Given the description of an element on the screen output the (x, y) to click on. 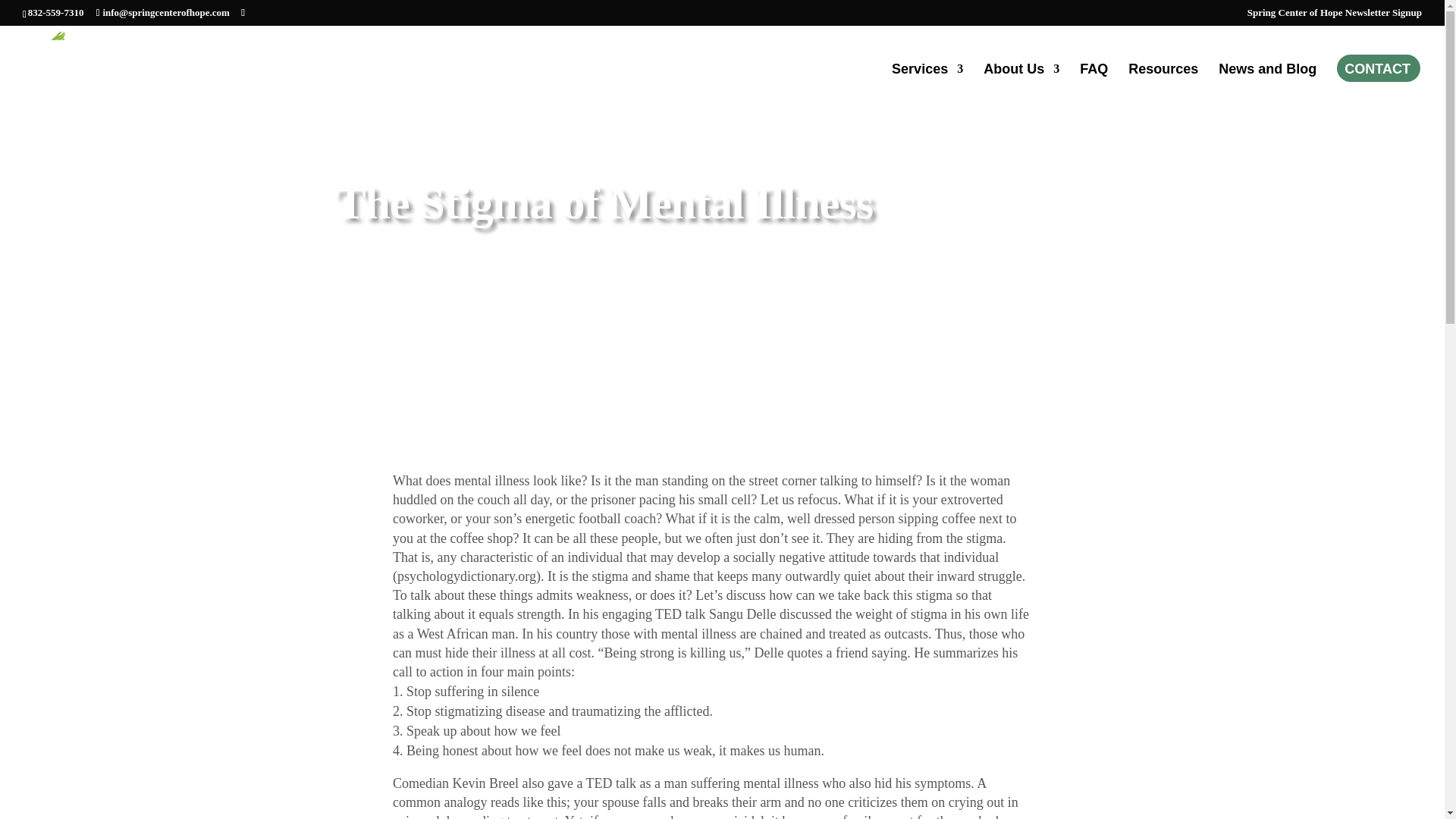
Spring Center of Hope Newsletter Signup (1334, 16)
832-559-7310 (55, 12)
CONTACT (1376, 68)
